Given the description of an element on the screen output the (x, y) to click on. 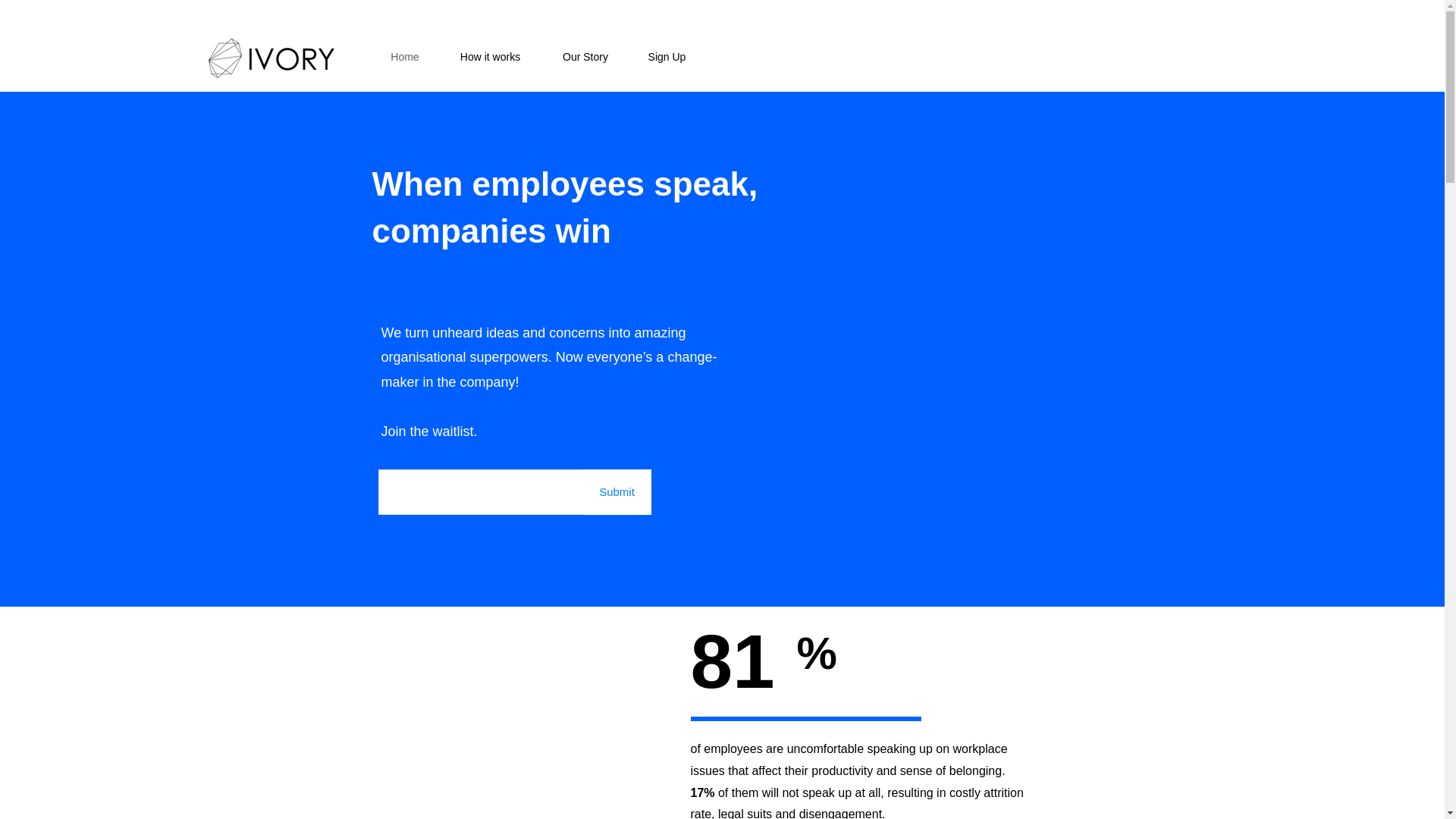
Home (404, 56)
Submit (616, 492)
Our Story (584, 56)
How it works (489, 56)
Sign Up (666, 56)
